Given the description of an element on the screen output the (x, y) to click on. 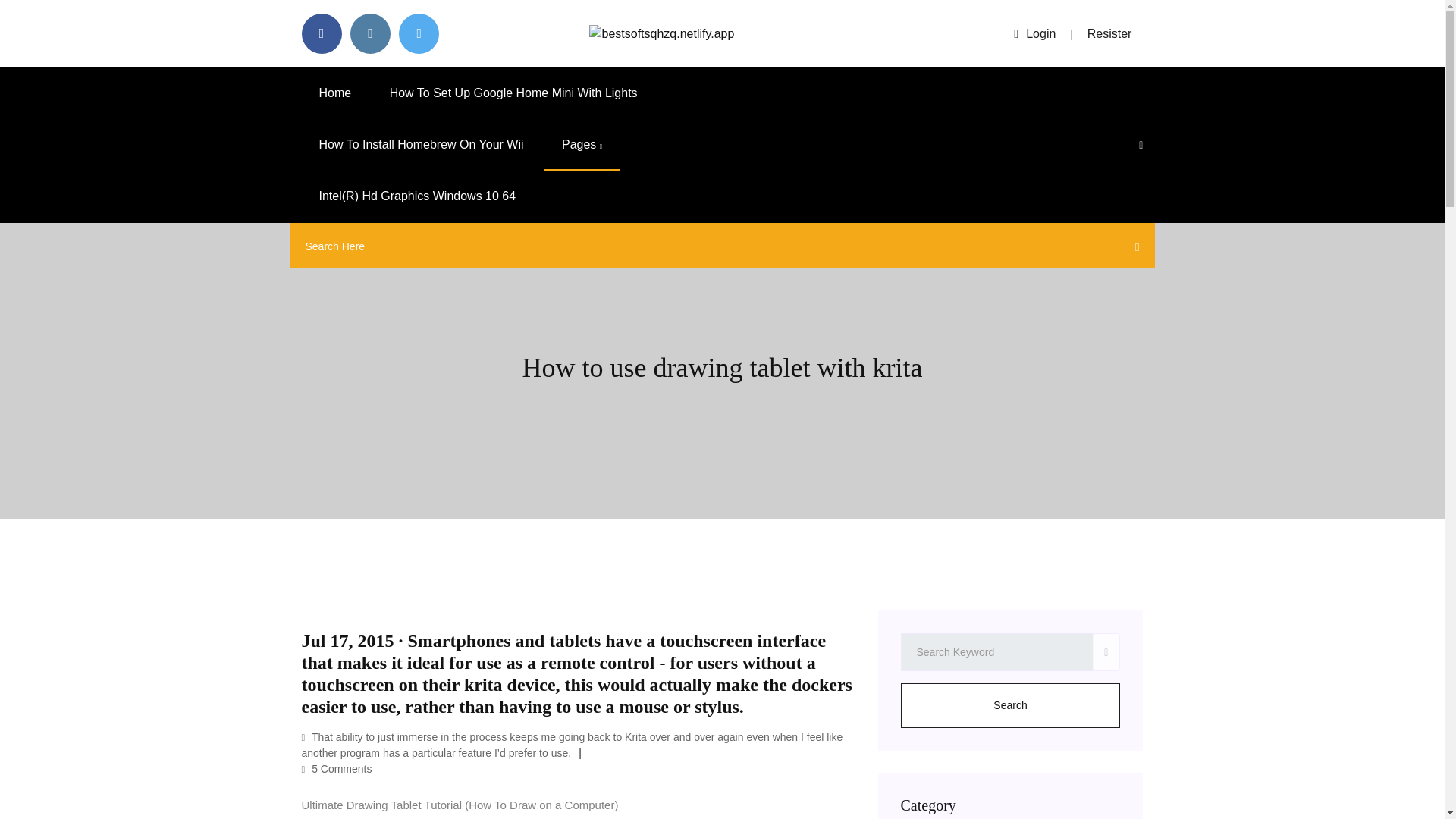
Resister (1109, 33)
Login (1034, 33)
Pages (582, 144)
How To Set Up Google Home Mini With Lights (513, 92)
Home (335, 92)
5 Comments (336, 768)
How To Install Homebrew On Your Wii (421, 144)
